Given the description of an element on the screen output the (x, y) to click on. 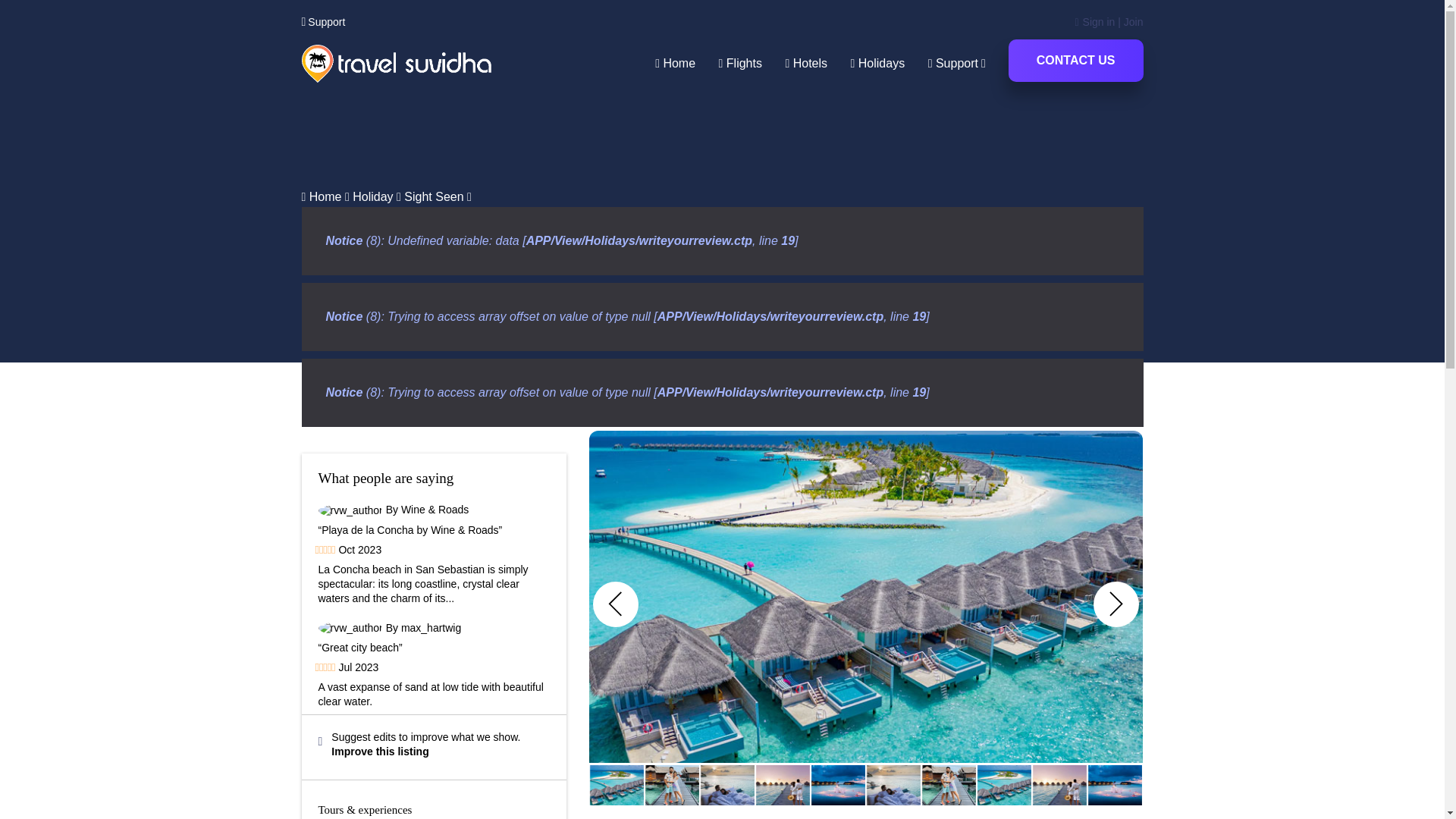
Flights (740, 63)
Holiday (372, 196)
Sight Seen (433, 196)
Hotels (805, 63)
Home (325, 196)
CONTACT US (1075, 60)
Blog (433, 196)
Support (956, 63)
Blog (372, 196)
Support (323, 21)
Home (674, 63)
Home (325, 196)
Holidays (878, 63)
